Given the description of an element on the screen output the (x, y) to click on. 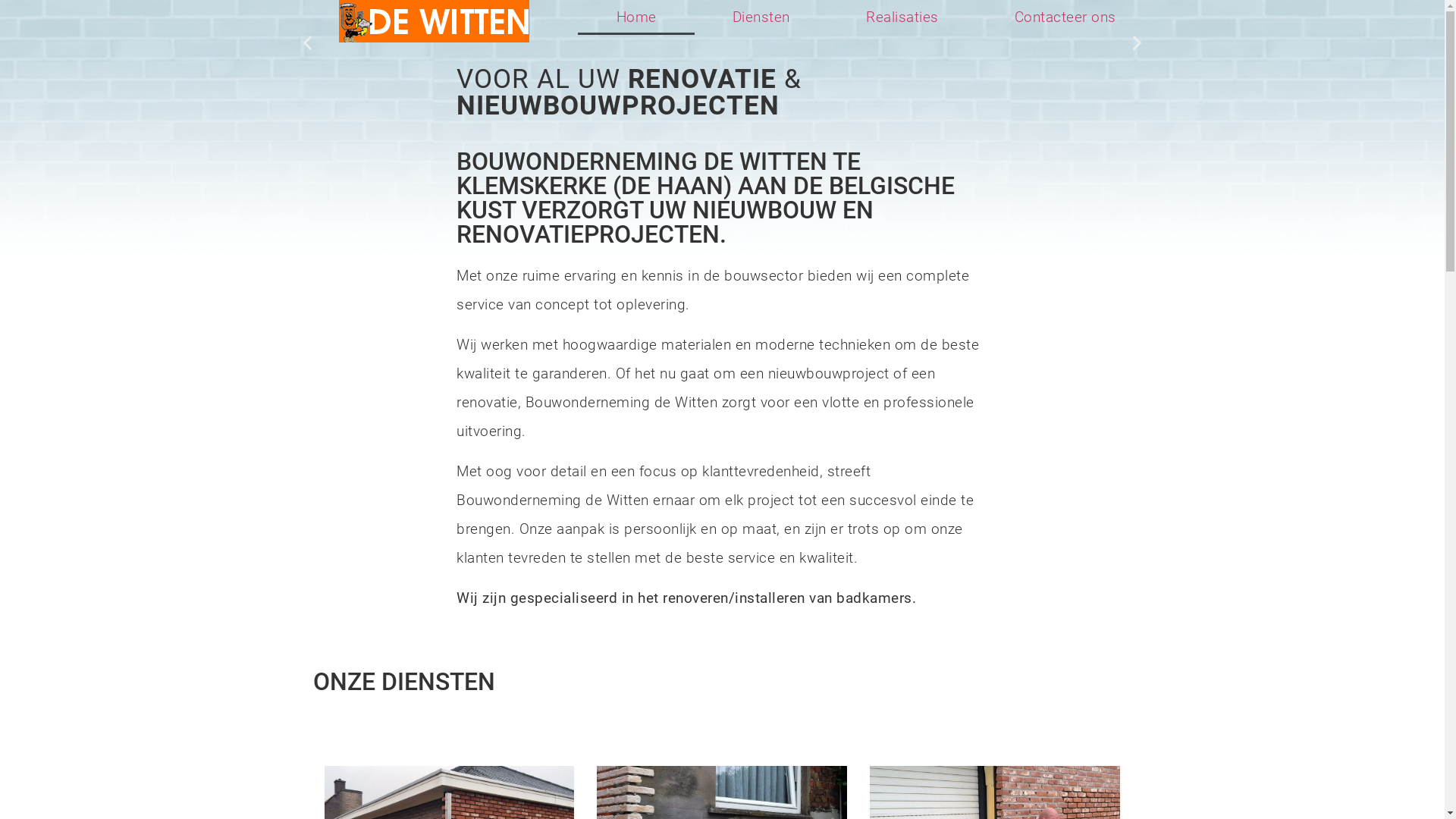
Home Element type: text (635, 17)
Contacteer ons Element type: text (1065, 17)
Diensten Element type: text (761, 17)
Realisaties Element type: text (902, 17)
